Given the description of an element on the screen output the (x, y) to click on. 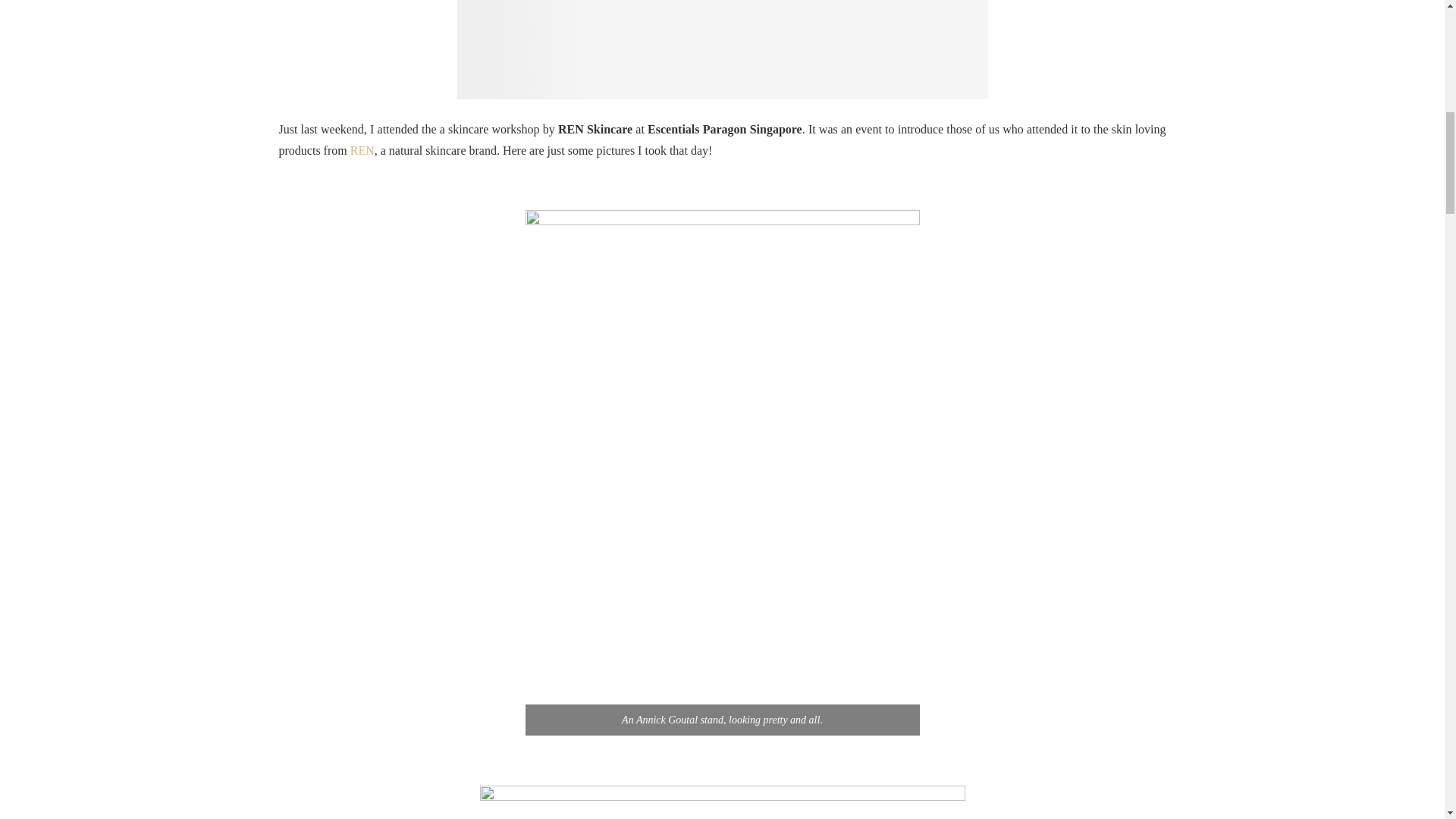
REN (362, 150)
The REN  Moroccan Rose Otto Body Wash (721, 802)
rose-bath (722, 49)
